Given the description of an element on the screen output the (x, y) to click on. 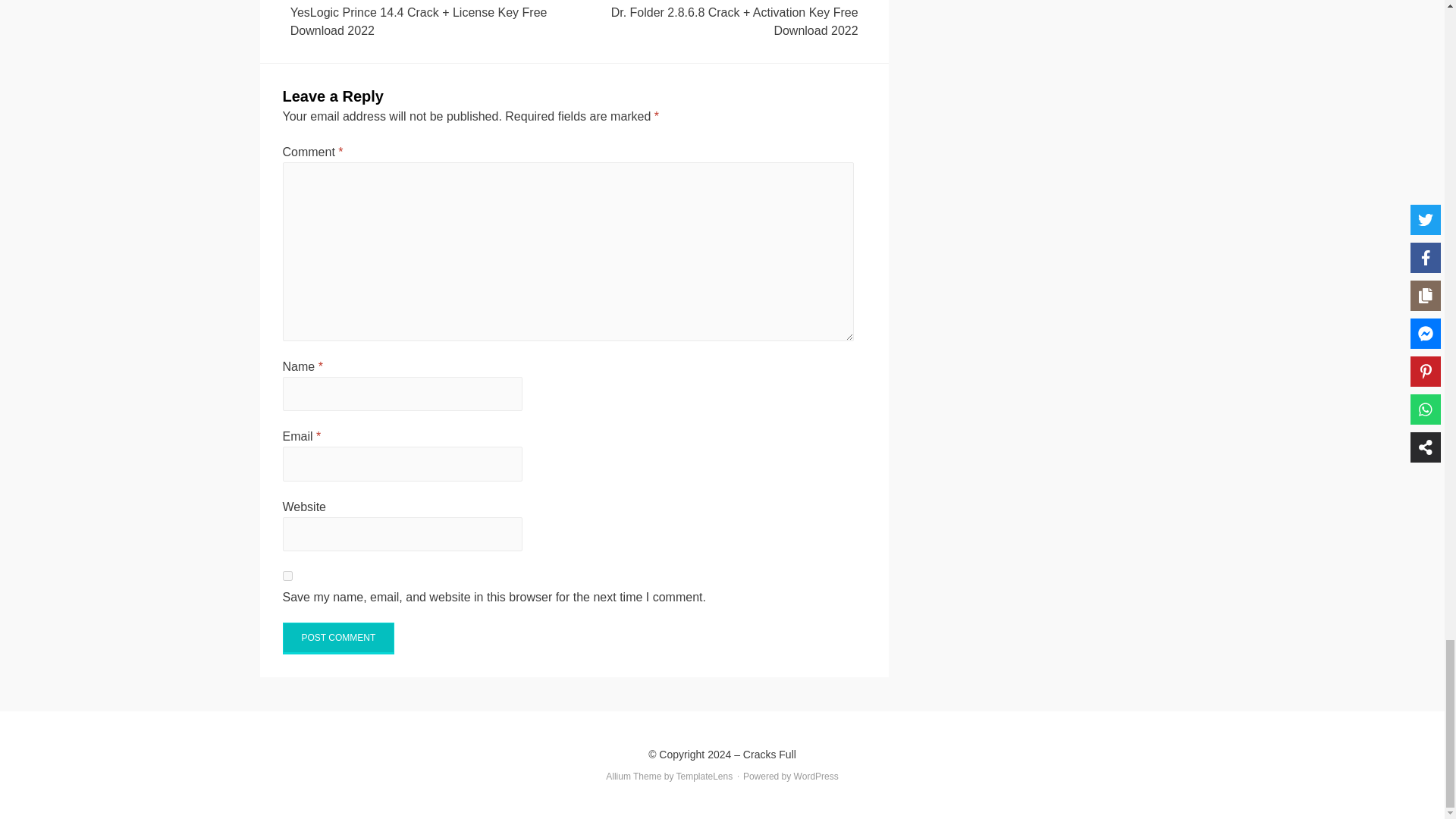
yes (287, 575)
Post Comment (338, 638)
TemplateLens (705, 776)
Post Comment (338, 638)
WordPress (815, 776)
